Given the description of an element on the screen output the (x, y) to click on. 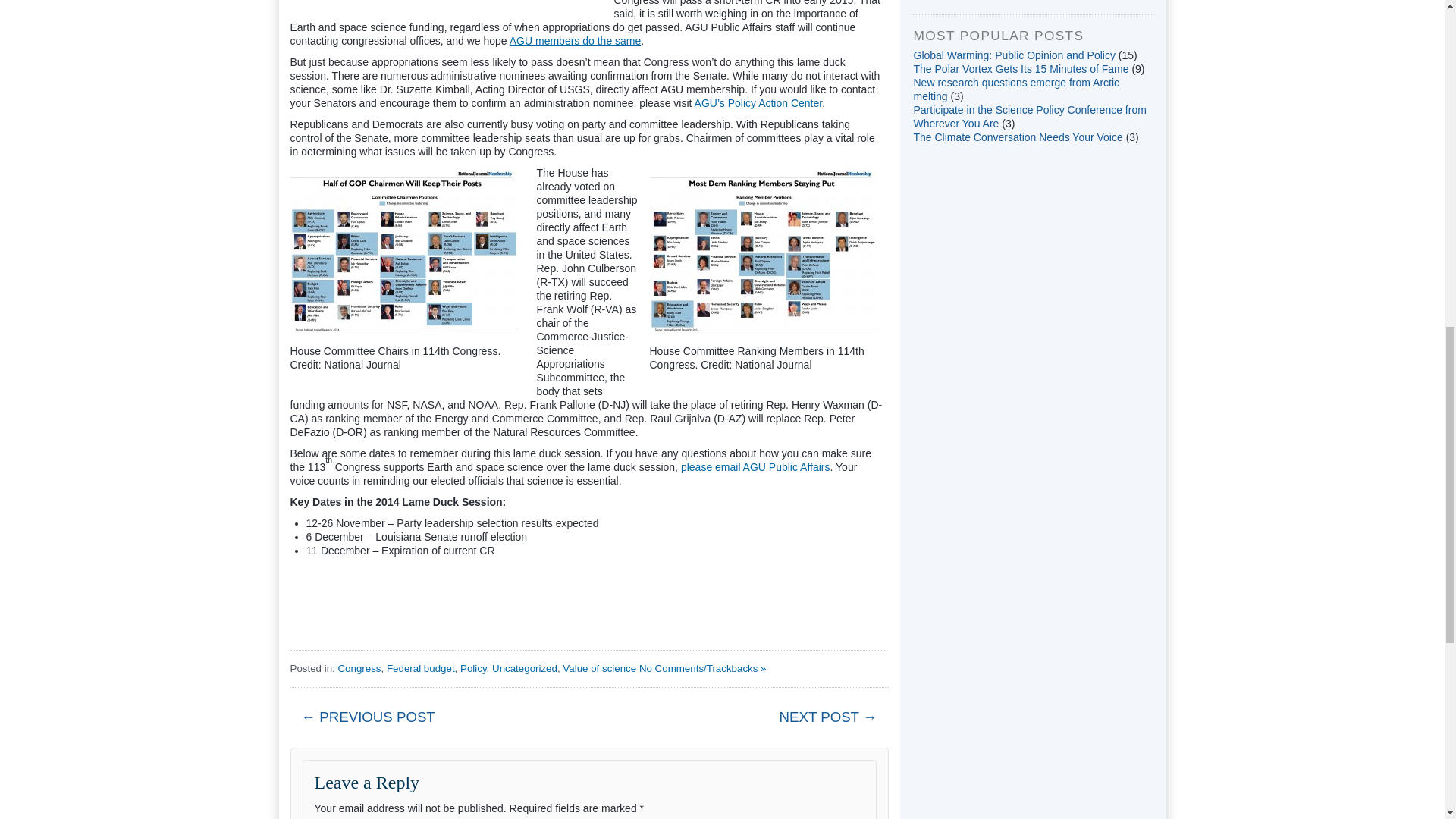
Policy (473, 668)
Uncategorized (524, 668)
AGU members do the same (575, 40)
Federal budget (420, 668)
Congress (358, 668)
please email AGU Public Affairs (755, 467)
Value of science (599, 668)
